Given the description of an element on the screen output the (x, y) to click on. 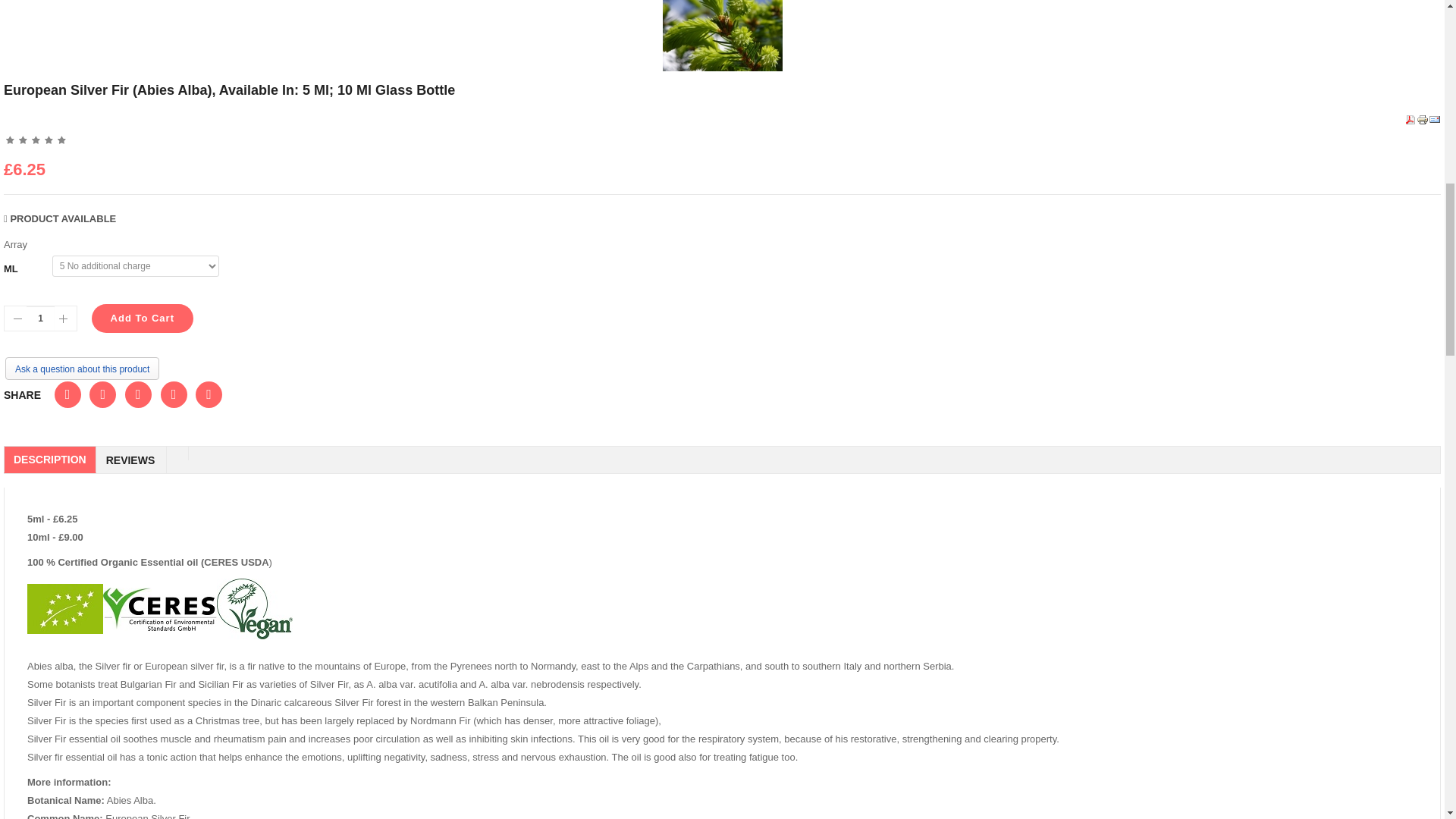
1 (40, 318)
Not Rated Yet (36, 139)
Add to Cart (141, 318)
Google Plus Share (102, 394)
Add to Cart (141, 318)
Pinterest Share (208, 394)
Print (1422, 118)
PDF (1410, 118)
DESCRIPTION (50, 459)
REVIEWS (130, 460)
